Given the description of an element on the screen output the (x, y) to click on. 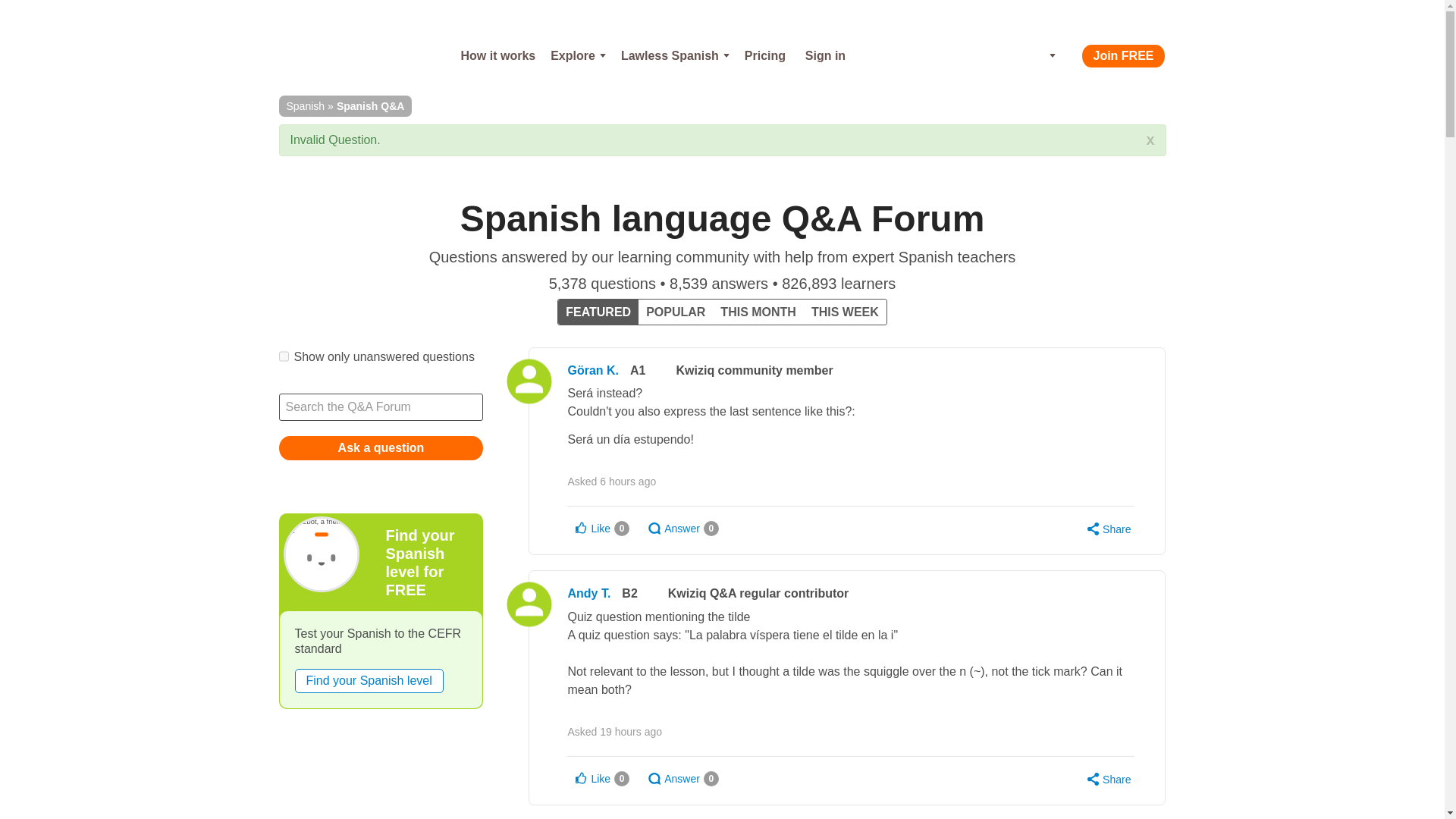
1st September 2024 (627, 481)
How it works (497, 56)
Explore (577, 56)
Lawless Spanish (674, 56)
31st August 2024 (630, 731)
